Given the description of an element on the screen output the (x, y) to click on. 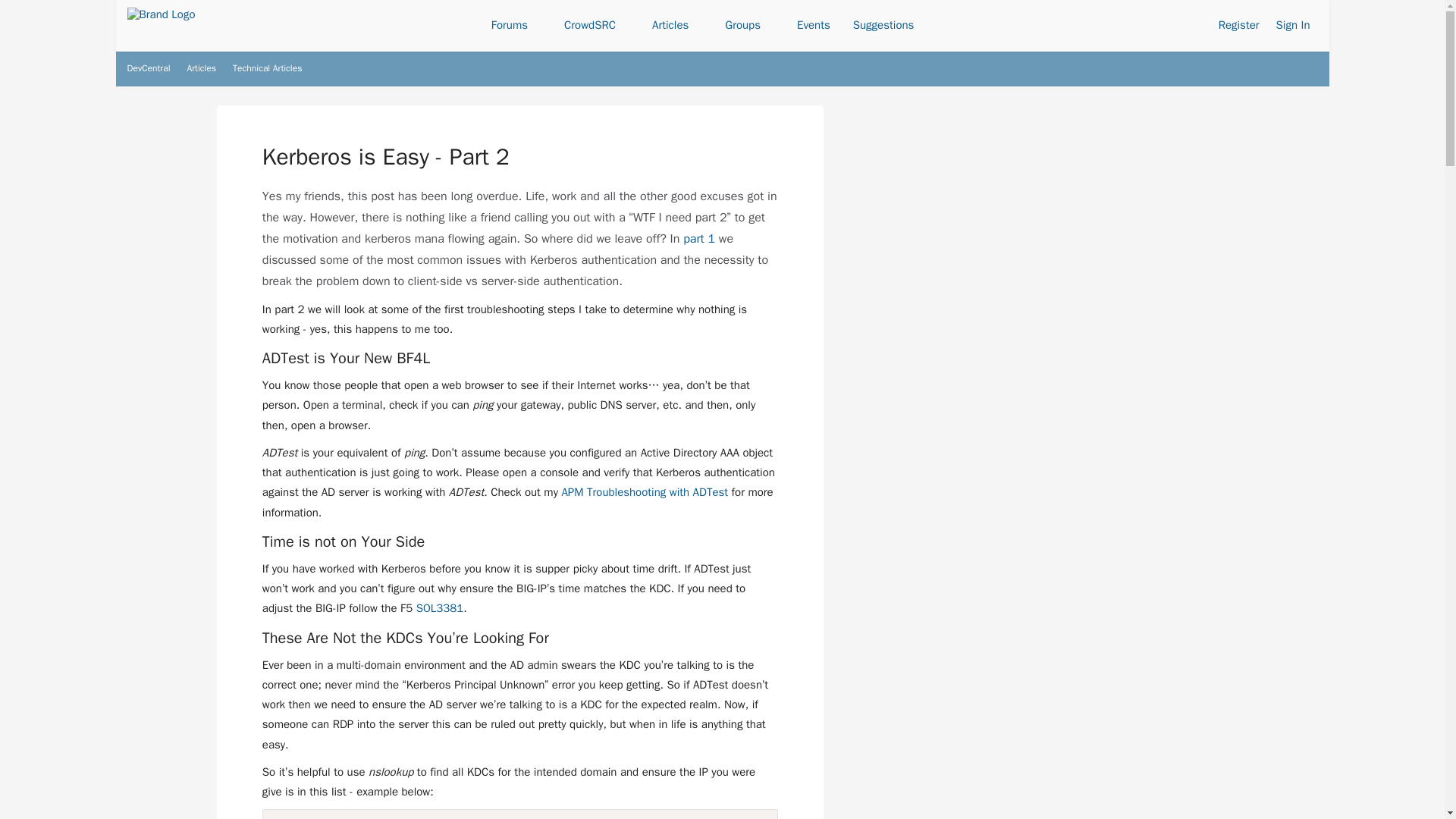
Forums (515, 25)
APM Troubleshooting with ADTest (644, 491)
CrowdSRC (596, 25)
Kerberos is Easy - Part 1 (698, 238)
Events (813, 25)
Skip to content (180, 54)
APM Troubleshooting with ADTest (644, 491)
Technical Articles (266, 68)
SOL3381 (440, 608)
Articles (201, 68)
